Given the description of an element on the screen output the (x, y) to click on. 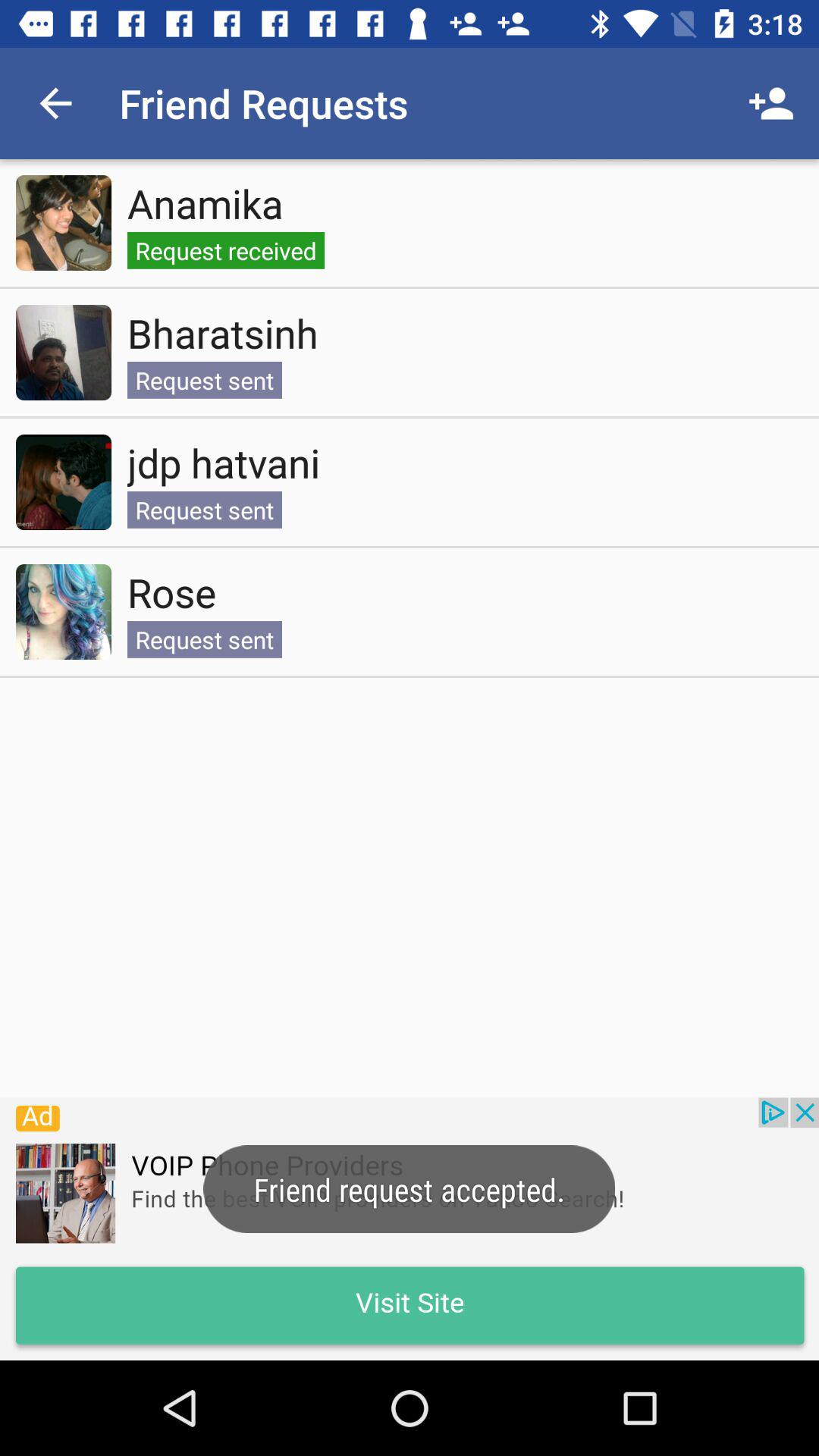
visit site (409, 1228)
